Given the description of an element on the screen output the (x, y) to click on. 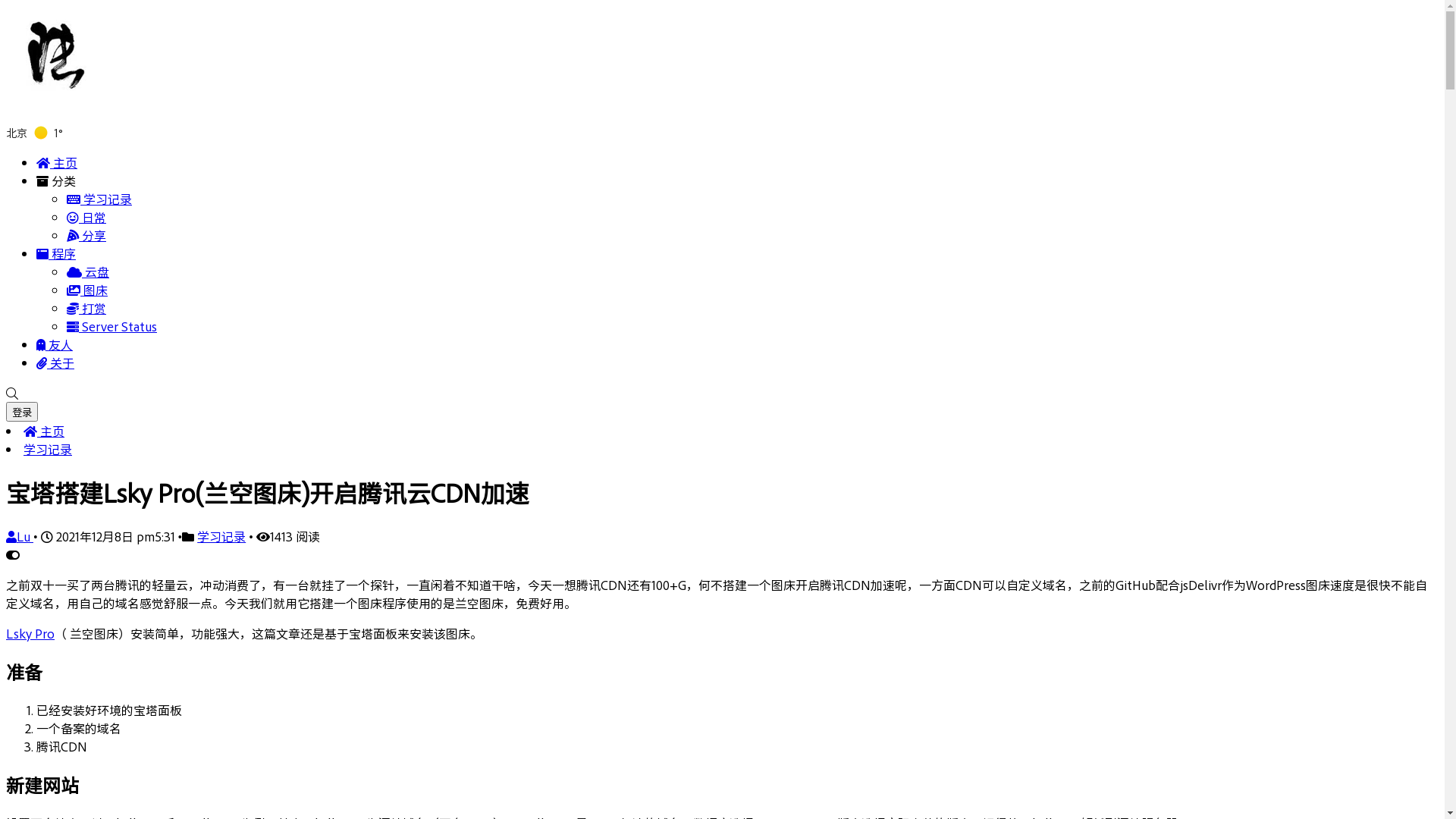
Lsky Pro Element type: text (30, 633)
Lu Element type: text (19, 536)
Server Status Element type: text (111, 325)
